Given the description of an element on the screen output the (x, y) to click on. 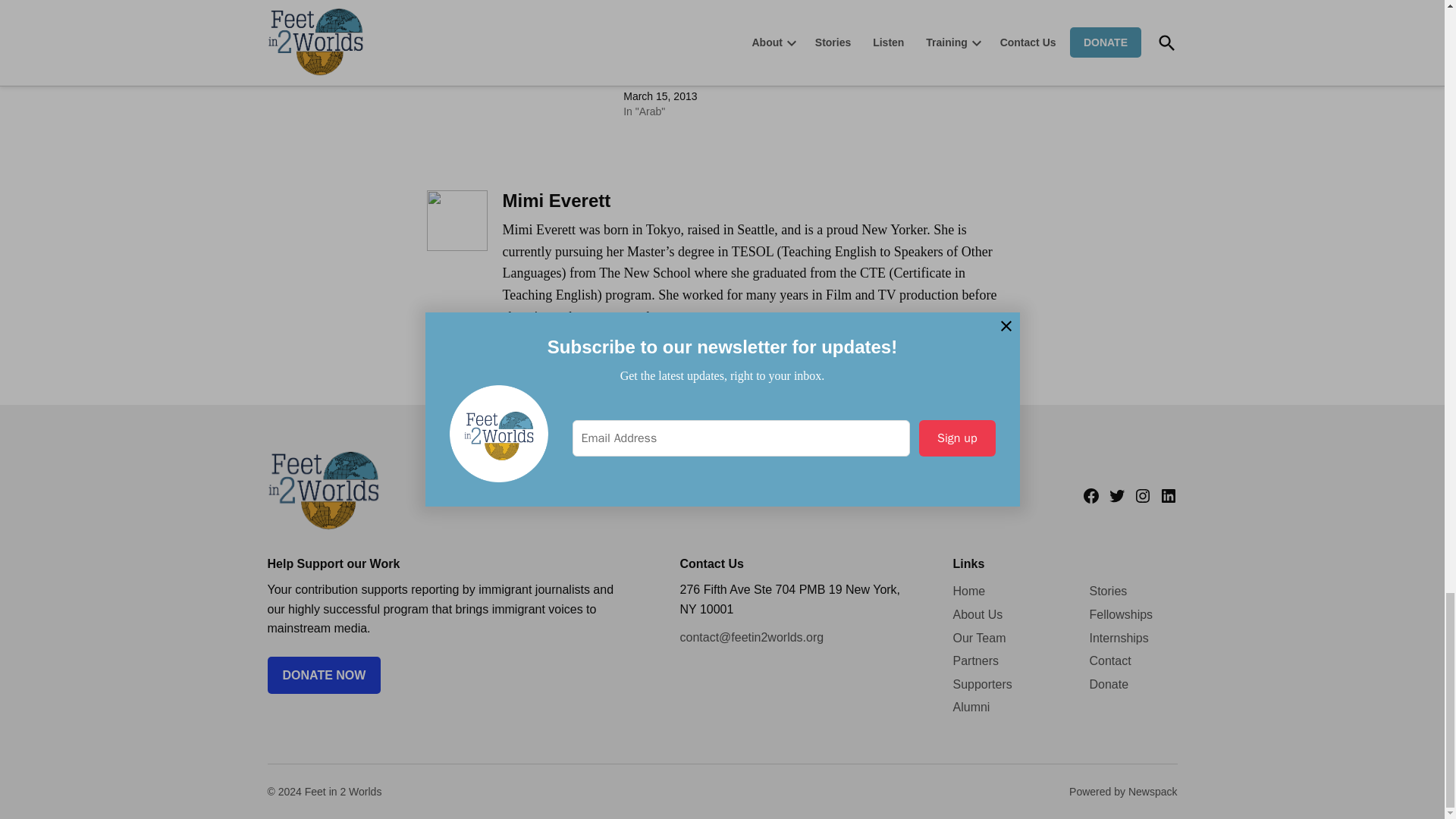
Fi2W Story About Syrian Immigrant on WNYC Radio (522, 14)
